Given the description of an element on the screen output the (x, y) to click on. 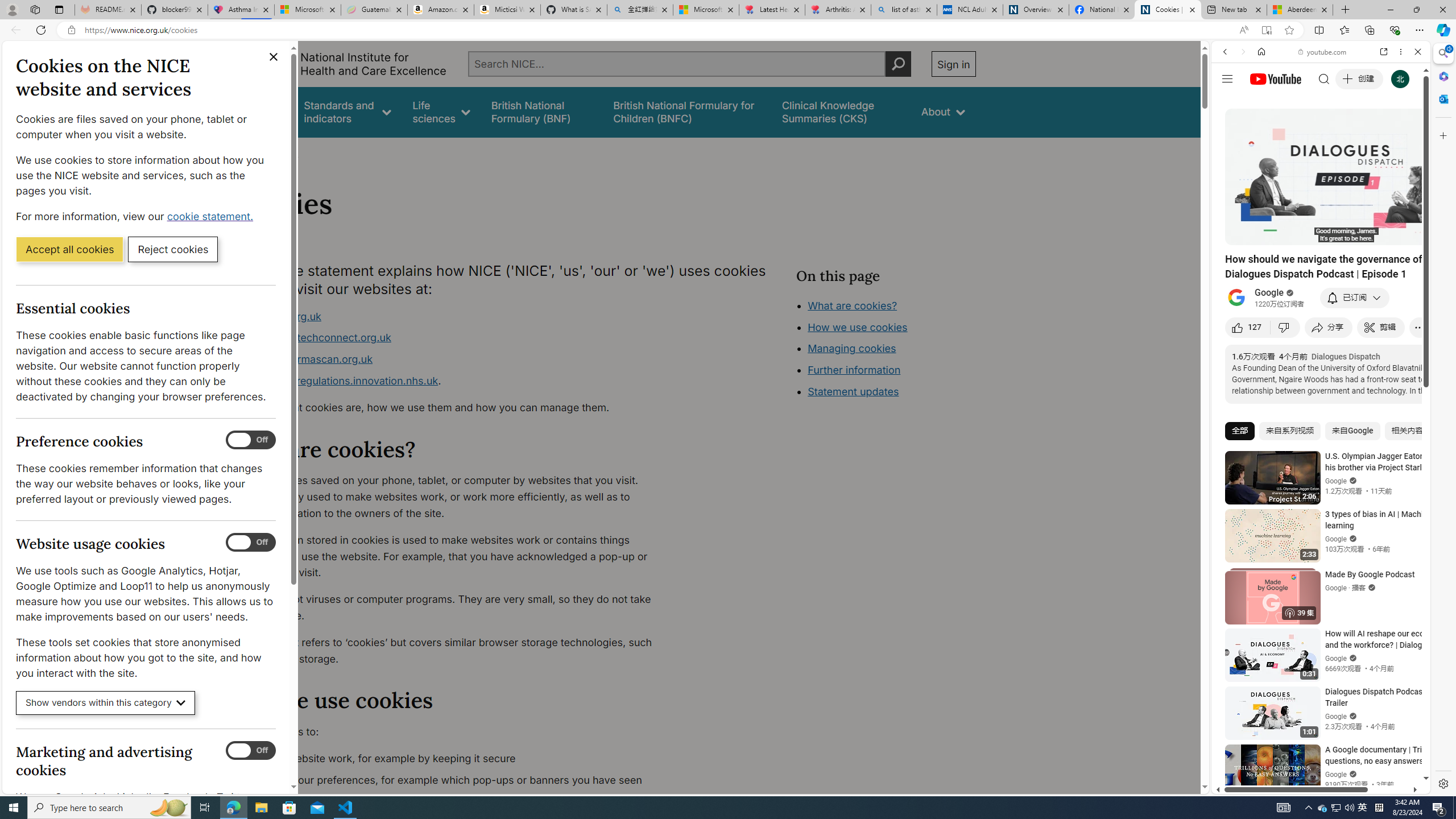
Music (1320, 309)
Music (1320, 309)
www.nice.org.uk (279, 315)
Arthritis: Ask Health Professionals (838, 9)
Perform search (898, 63)
Trailer #2 [HD] (1320, 337)
Google (1320, 281)
www.ukpharmascan.org.uk (452, 359)
